Given the description of an element on the screen output the (x, y) to click on. 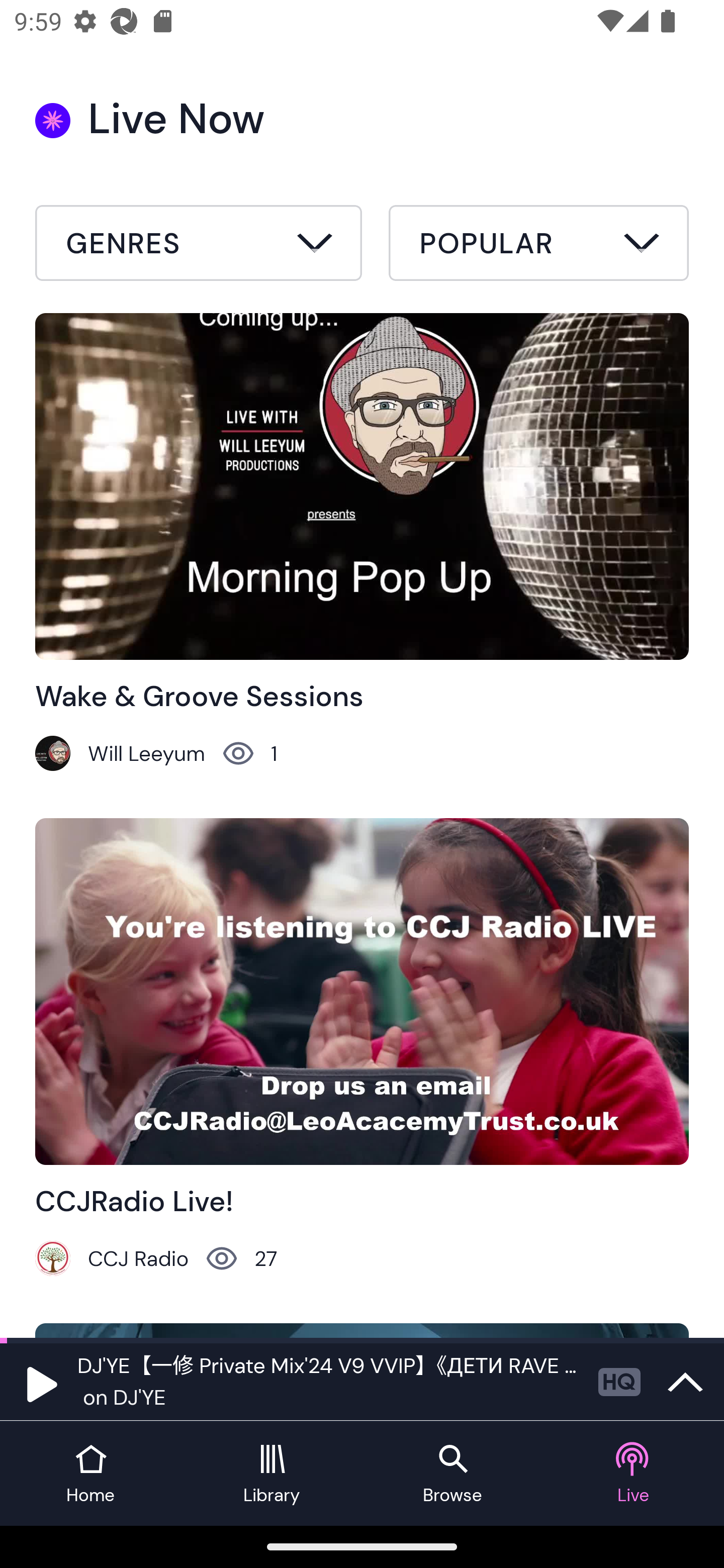
Filter by button All (198, 245)
Sort by button Popular (538, 245)
Home tab Home (90, 1473)
Library tab Library (271, 1473)
Browse tab Browse (452, 1473)
Live tab Live (633, 1473)
